Given the description of an element on the screen output the (x, y) to click on. 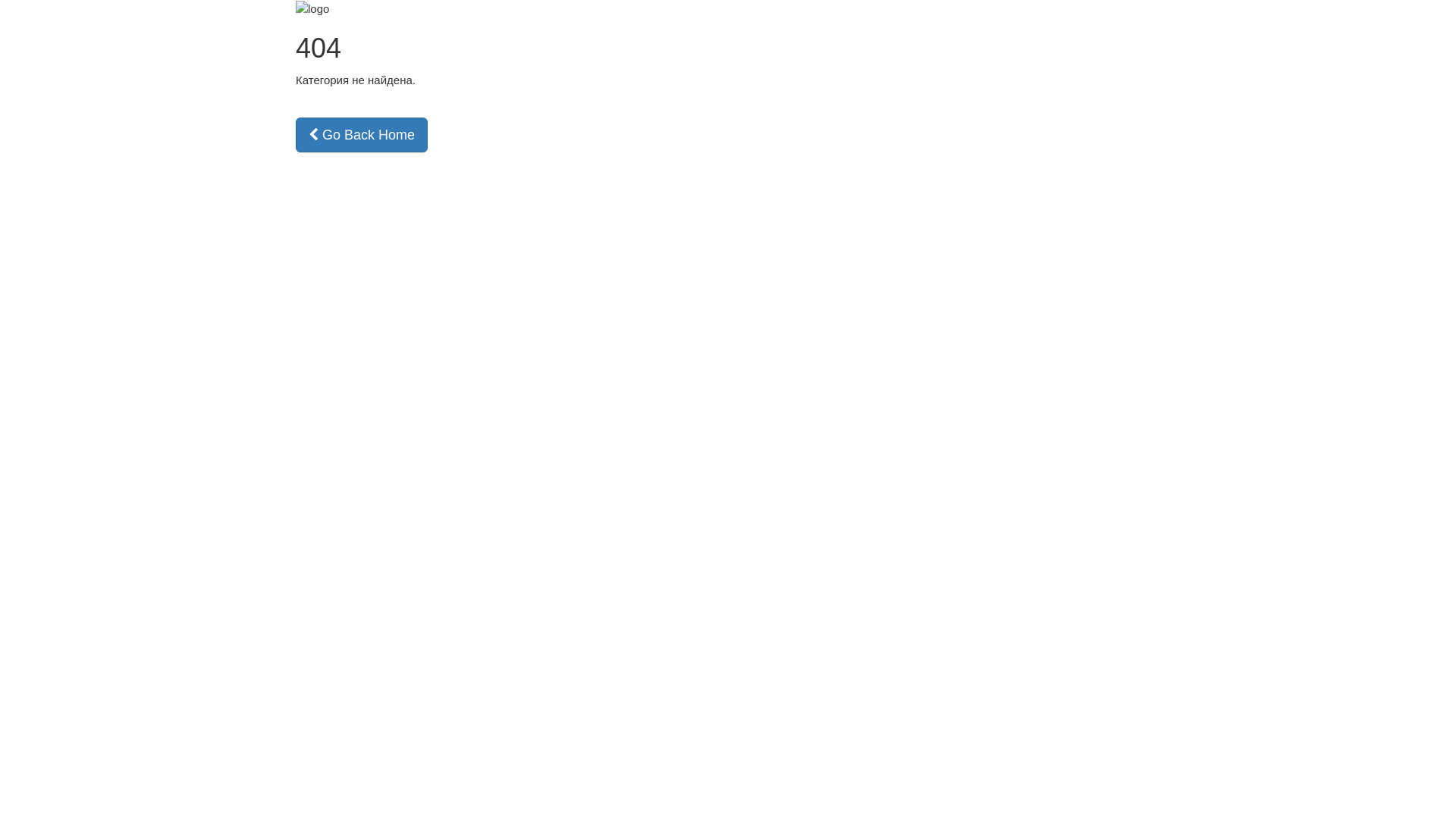
Go Back Home Element type: text (361, 134)
